Given the description of an element on the screen output the (x, y) to click on. 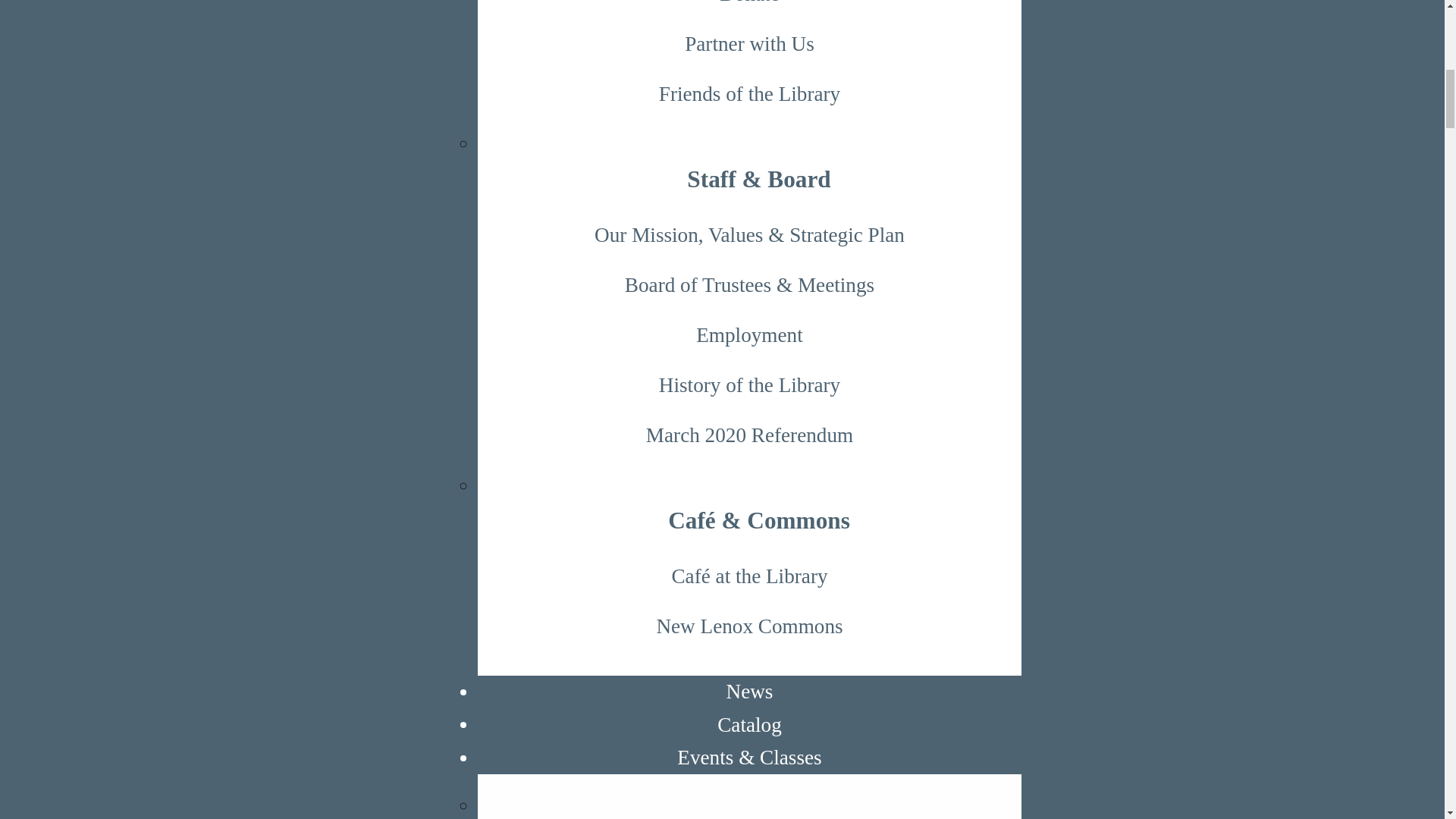
Employment (749, 336)
History of the Library (749, 386)
News (749, 690)
Partner with Us (749, 43)
New Lenox Commons (749, 626)
Catalog (748, 724)
Donate (749, 9)
Friends of the Library (749, 93)
March 2020 Referendum (749, 436)
